Given the description of an element on the screen output the (x, y) to click on. 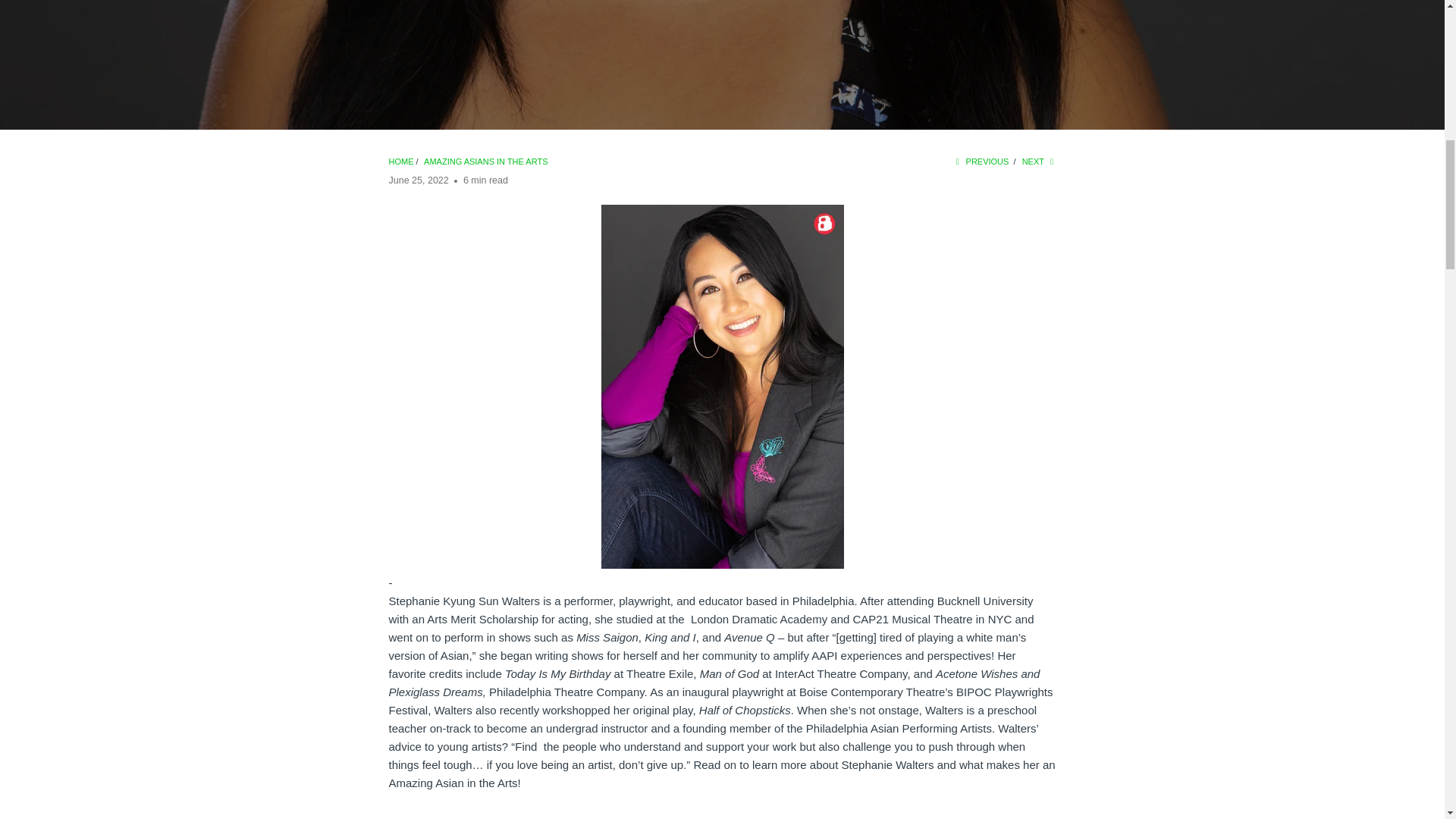
The Cre8sian Project (400, 161)
Amazing Asians in the Arts (485, 161)
